Given the description of an element on the screen output the (x, y) to click on. 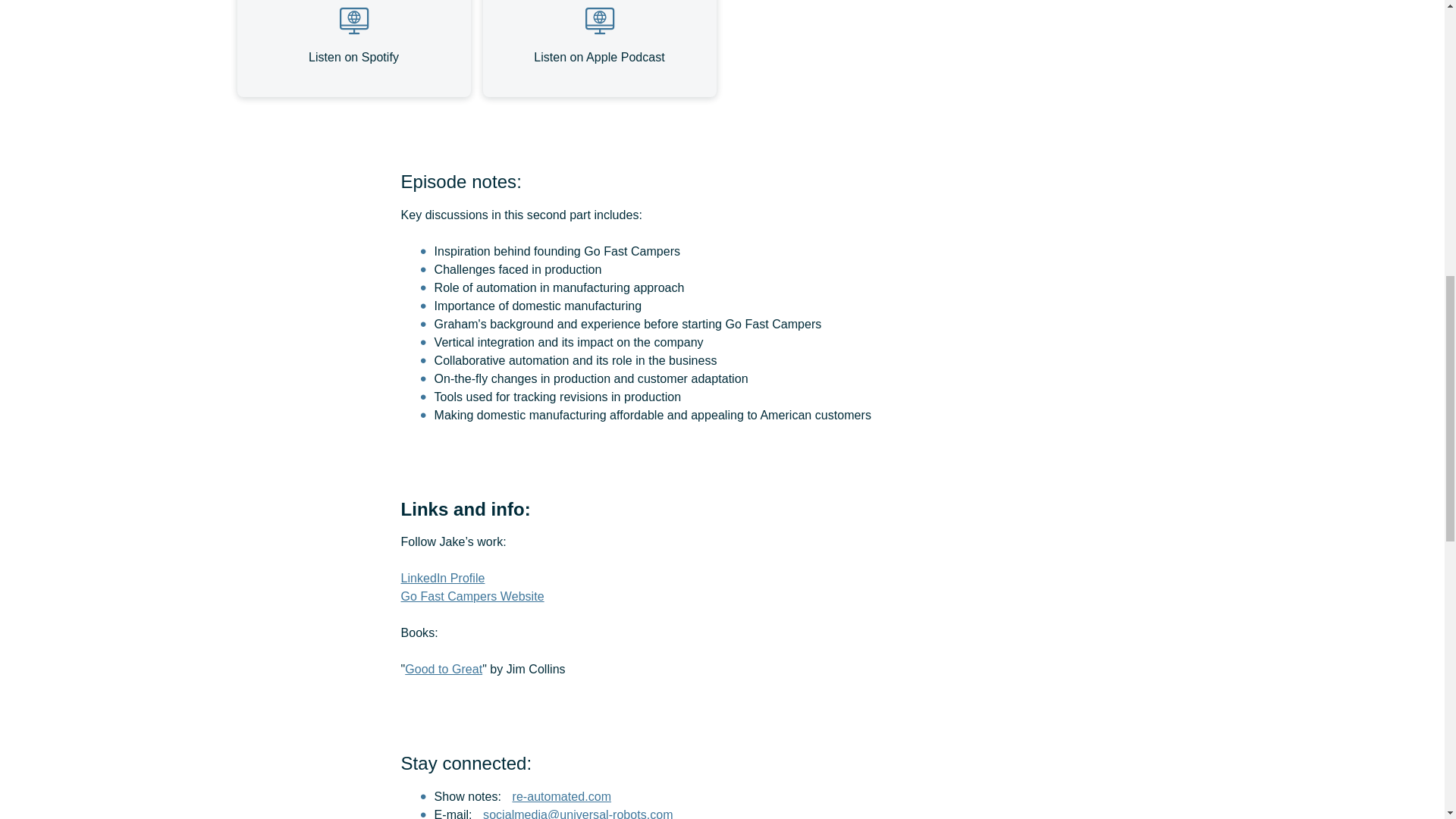
Listen on Spotify (352, 48)
LinkedIn Profile (442, 577)
re-automated.com (561, 796)
Go Fast Campers Website (471, 595)
Good to Great (442, 668)
Listen on Apple Podcast (598, 48)
Listen on Apple Podcast (598, 48)
Listen on Spotify (352, 48)
